Given the description of an element on the screen output the (x, y) to click on. 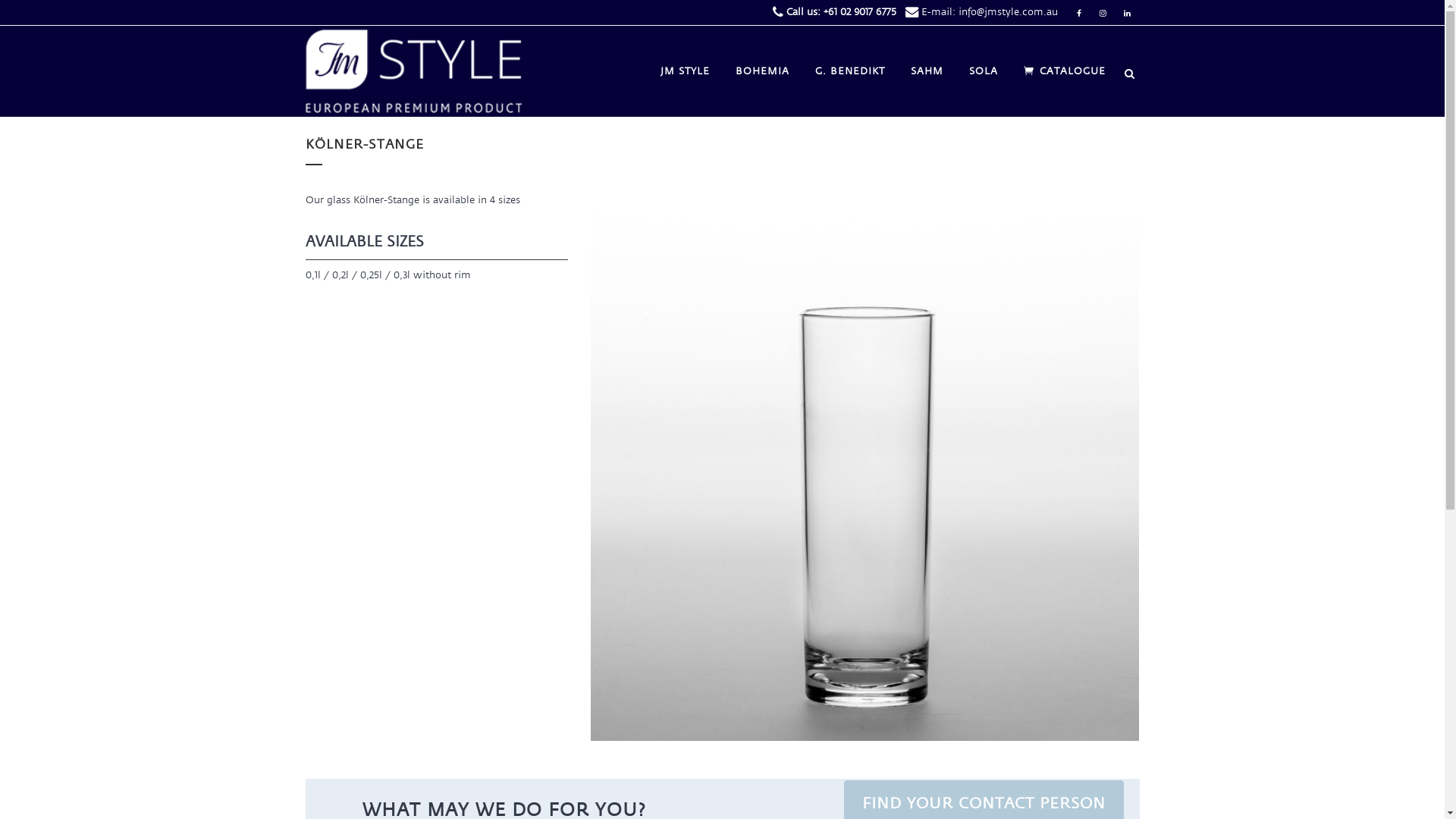
BOHEMIA Element type: text (761, 70)
G. BENEDIKT Element type: text (849, 70)
Call us: +61 02 9017 6775 Element type: text (840, 11)
JM STYLE Element type: text (684, 70)
CATALOGUE Element type: text (1063, 70)
SOLA Element type: text (982, 70)
SAHM Element type: text (926, 70)
